Given the description of an element on the screen output the (x, y) to click on. 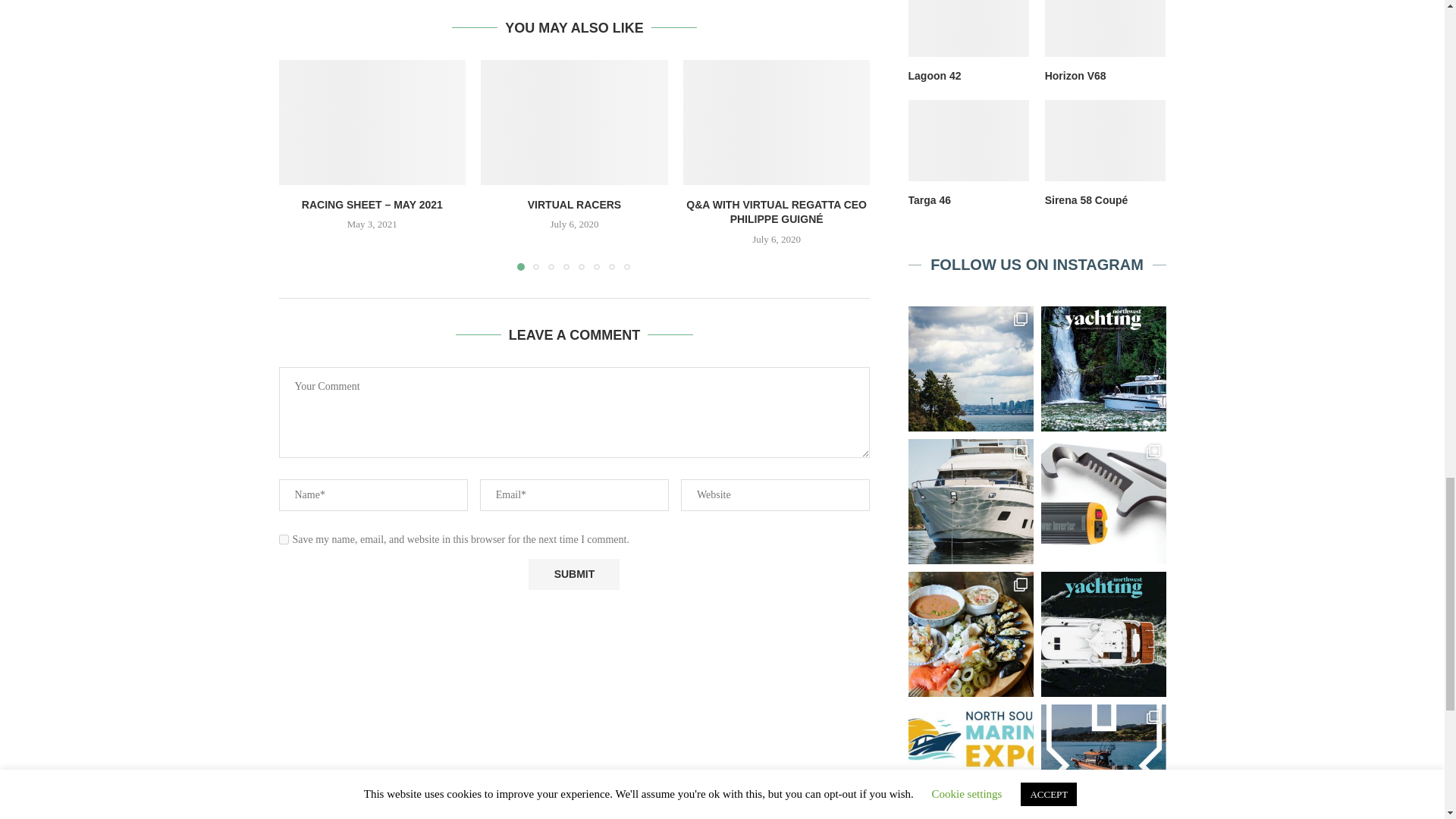
yes (283, 539)
Virtual Racers (574, 121)
Submit (574, 573)
